Given the description of an element on the screen output the (x, y) to click on. 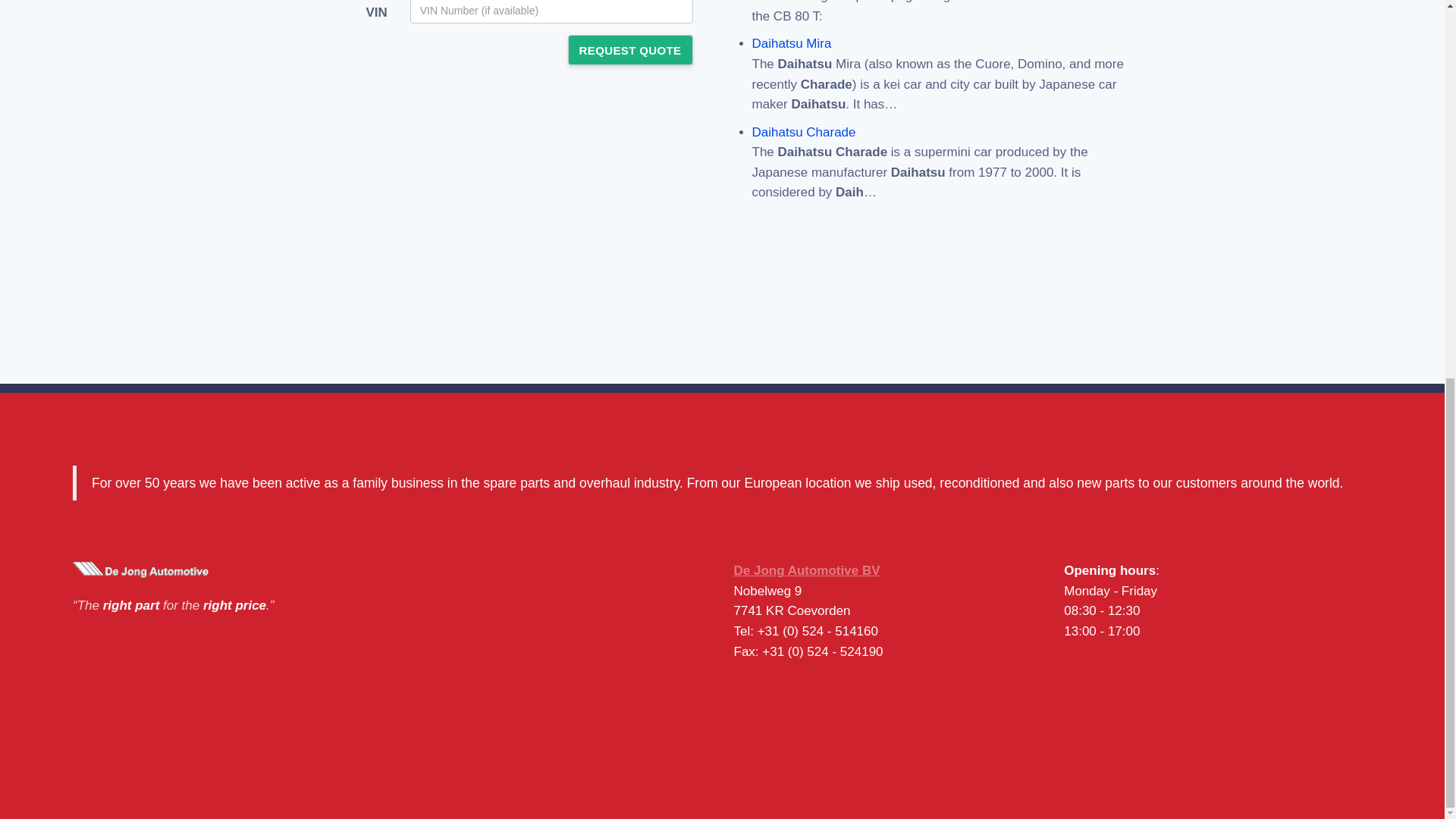
REQUEST QUOTE (630, 50)
Daihatsu Charade (804, 132)
Daihatsu Mira (791, 43)
De Jong Automotive BV (806, 570)
